Given the description of an element on the screen output the (x, y) to click on. 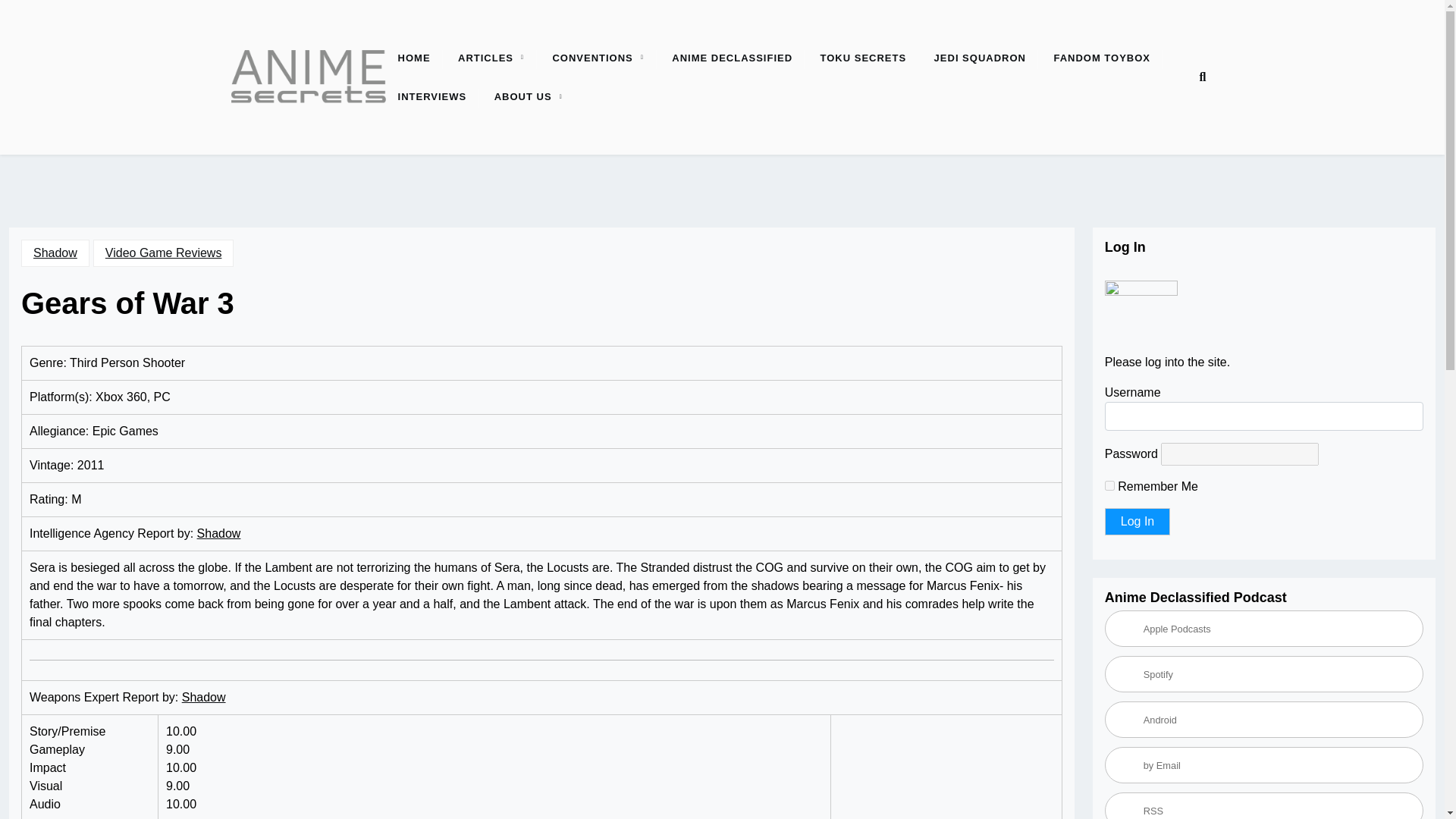
Subscribe on Apple Podcasts (1264, 628)
Subscribe on Android (1264, 719)
Subscribe via RSS (1264, 805)
Subscribe by Email (1264, 764)
Log In (1137, 521)
HOME (413, 57)
ARTICLES (485, 57)
Shadow (203, 697)
forever (1110, 485)
Subscribe on Spotify (1264, 674)
